Given the description of an element on the screen output the (x, y) to click on. 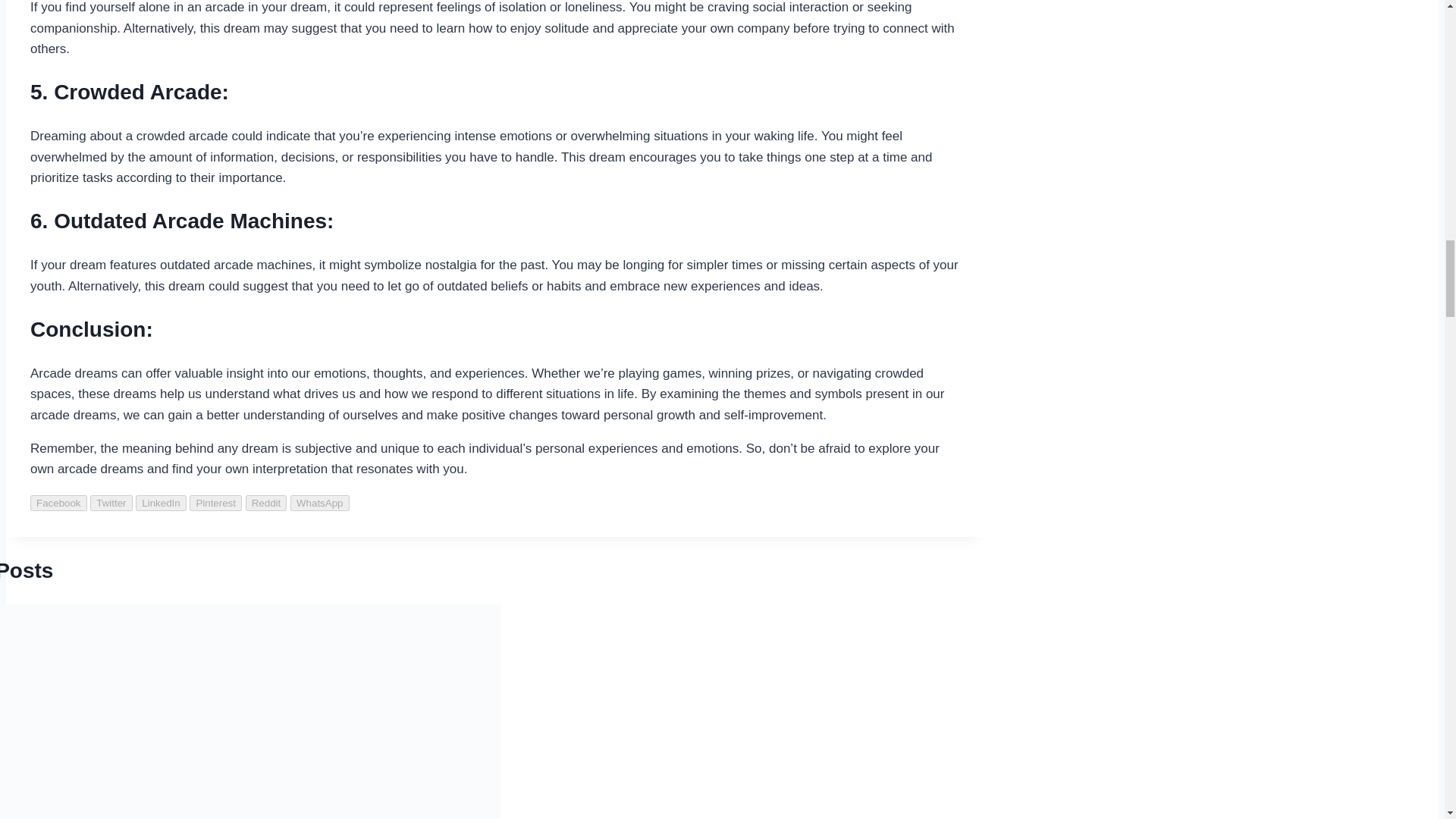
Reddit (266, 503)
Pinterest (215, 503)
Protecting Someone In A Dream Meaning 2 (250, 711)
Facebook (58, 503)
LinkedIn (160, 503)
Twitter (111, 503)
